Given the description of an element on the screen output the (x, y) to click on. 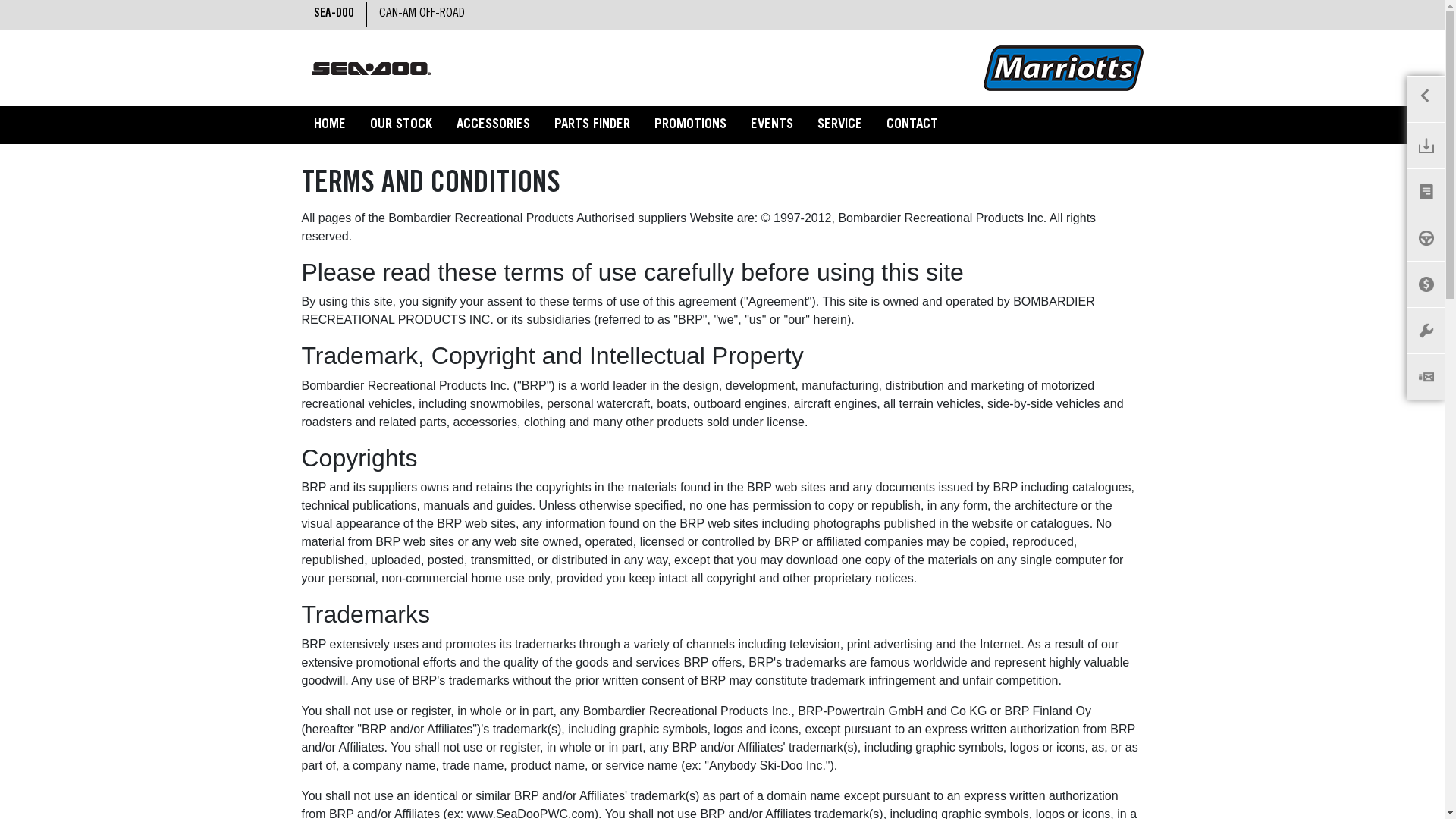
ACCESSORIES Element type: text (493, 125)
SEA-DOO Element type: text (333, 13)
OUR STOCK Element type: text (400, 125)
EVENTS Element type: text (771, 125)
HOME Element type: text (329, 125)
PROMOTIONS Element type: text (689, 125)
CAN-AM OFF-ROAD Element type: text (421, 13)
CONTACT Element type: text (911, 125)
PARTS FINDER Element type: text (591, 125)
SERVICE Element type: text (839, 125)
